Given the description of an element on the screen output the (x, y) to click on. 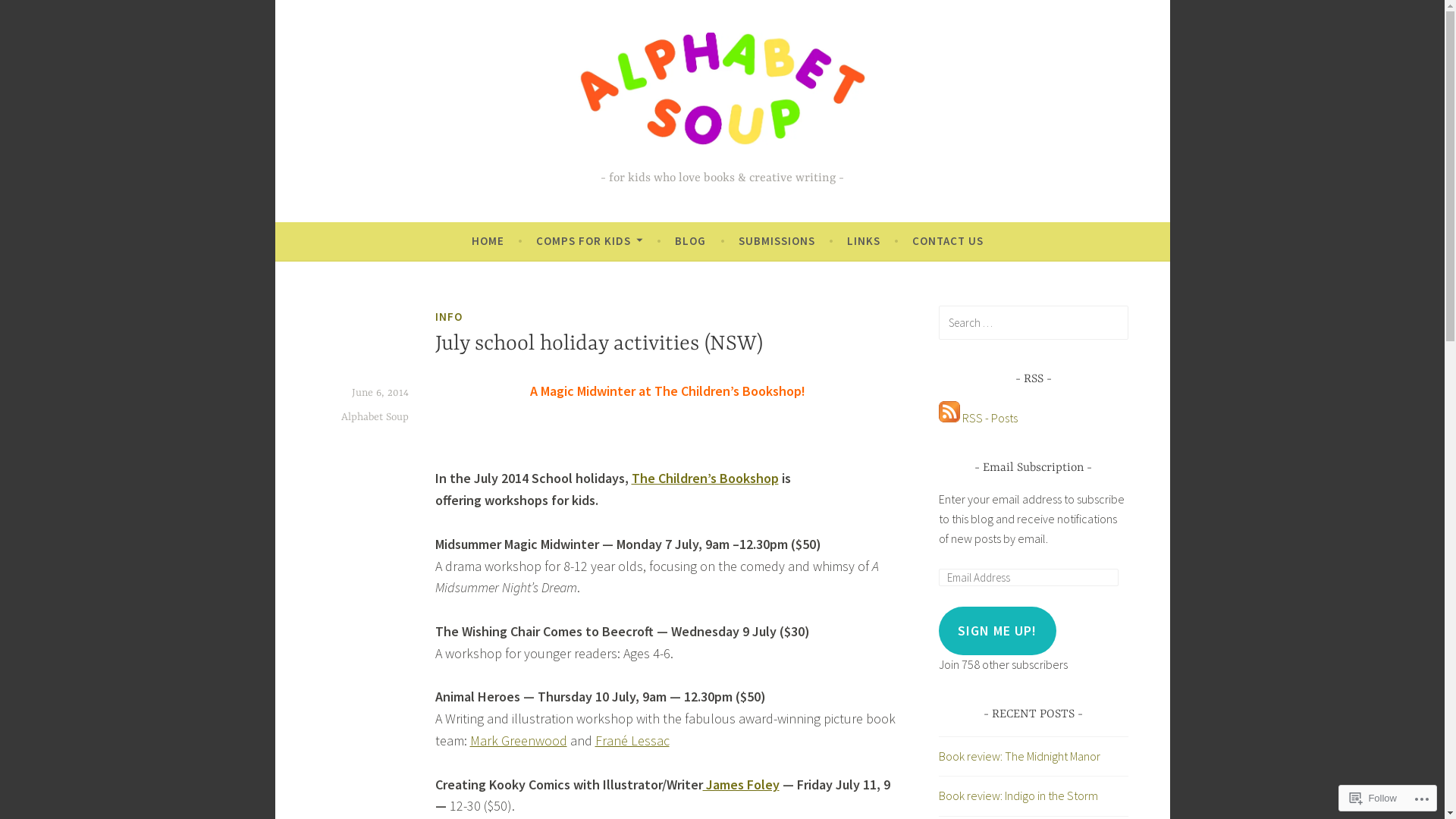
Book review: The Midnight Manor Element type: text (1019, 755)
Book review: Indigo in the Storm Element type: text (1018, 795)
CONTACT US Element type: text (947, 240)
June 6, 2014 Element type: text (379, 392)
BLOG Element type: text (690, 240)
SUBMISSIONS Element type: text (776, 240)
SIGN ME UP! Element type: text (997, 630)
INFO Element type: text (448, 316)
COMPS FOR KIDS Element type: text (589, 240)
HOME Element type: text (487, 240)
Alphabet Soup Element type: text (374, 417)
Follow Element type: text (1372, 797)
LINKS Element type: text (863, 240)
Search Element type: text (33, 15)
Subscribe to Posts Element type: hover (949, 417)
RSS - Posts Element type: text (988, 417)
James Foley Element type: text (740, 784)
Mark Greenwood Element type: text (518, 740)
